Given the description of an element on the screen output the (x, y) to click on. 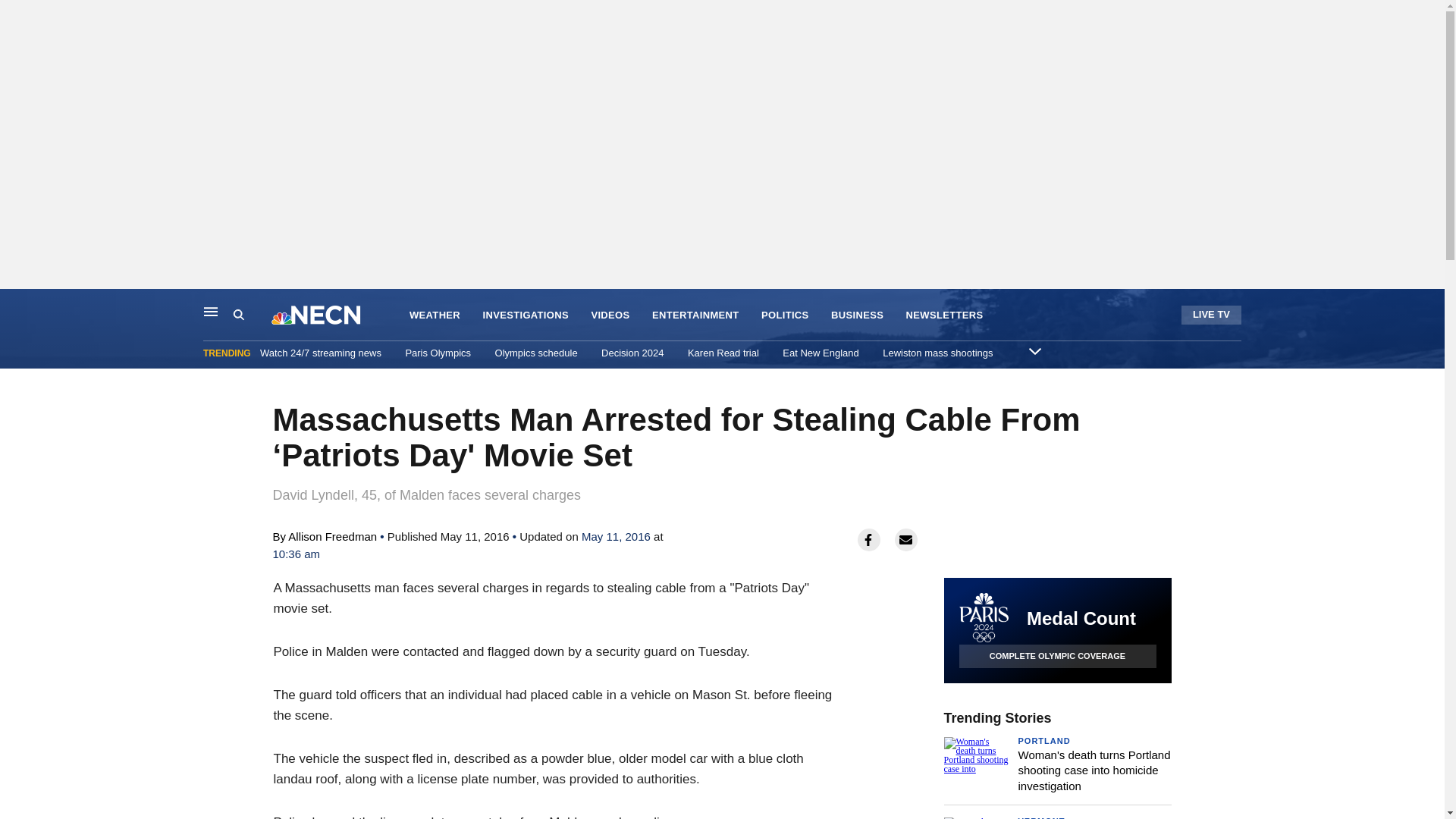
Search (252, 314)
Olympics schedule (536, 352)
PORTLAND (1043, 740)
VIDEOS (609, 315)
Eat New England (821, 352)
Lewiston mass shootings (937, 352)
Skip to content (16, 304)
NEWSLETTERS (944, 315)
INVESTIGATIONS (526, 315)
BUSINESS (857, 315)
WEATHER (434, 315)
Main Navigation (210, 311)
Karen Read trial (722, 352)
VERMONT (1040, 817)
